Given the description of an element on the screen output the (x, y) to click on. 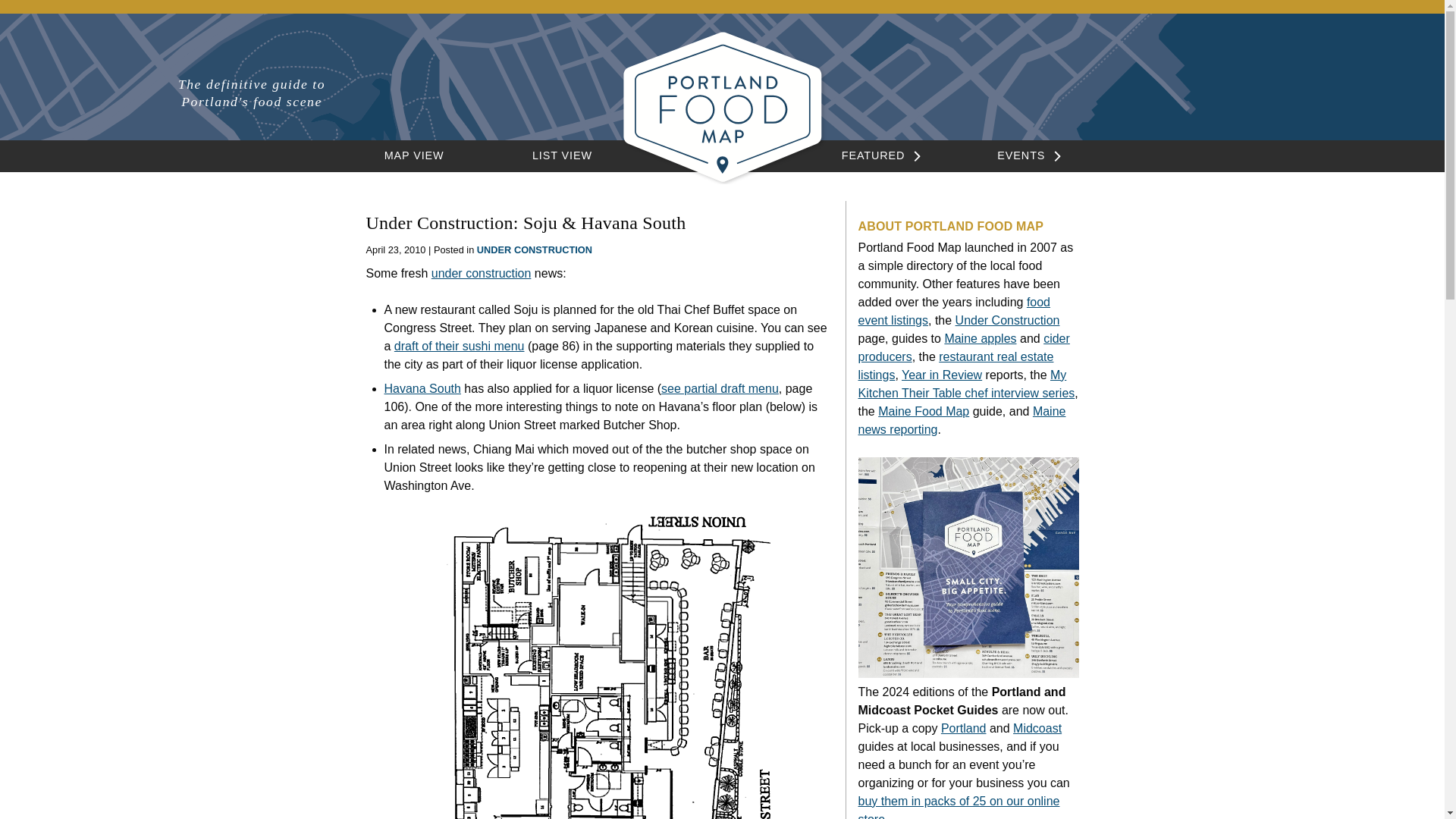
Twitter icon (1223, 87)
Year in Review (941, 374)
LIST VIEW (562, 155)
April 23, 2010 (395, 249)
see partial draft menu (719, 388)
Under Construction (1007, 319)
RSS icon (1251, 87)
RSS icon (1251, 88)
expand child menu (913, 156)
Portland Food Map logo (721, 179)
